Given the description of an element on the screen output the (x, y) to click on. 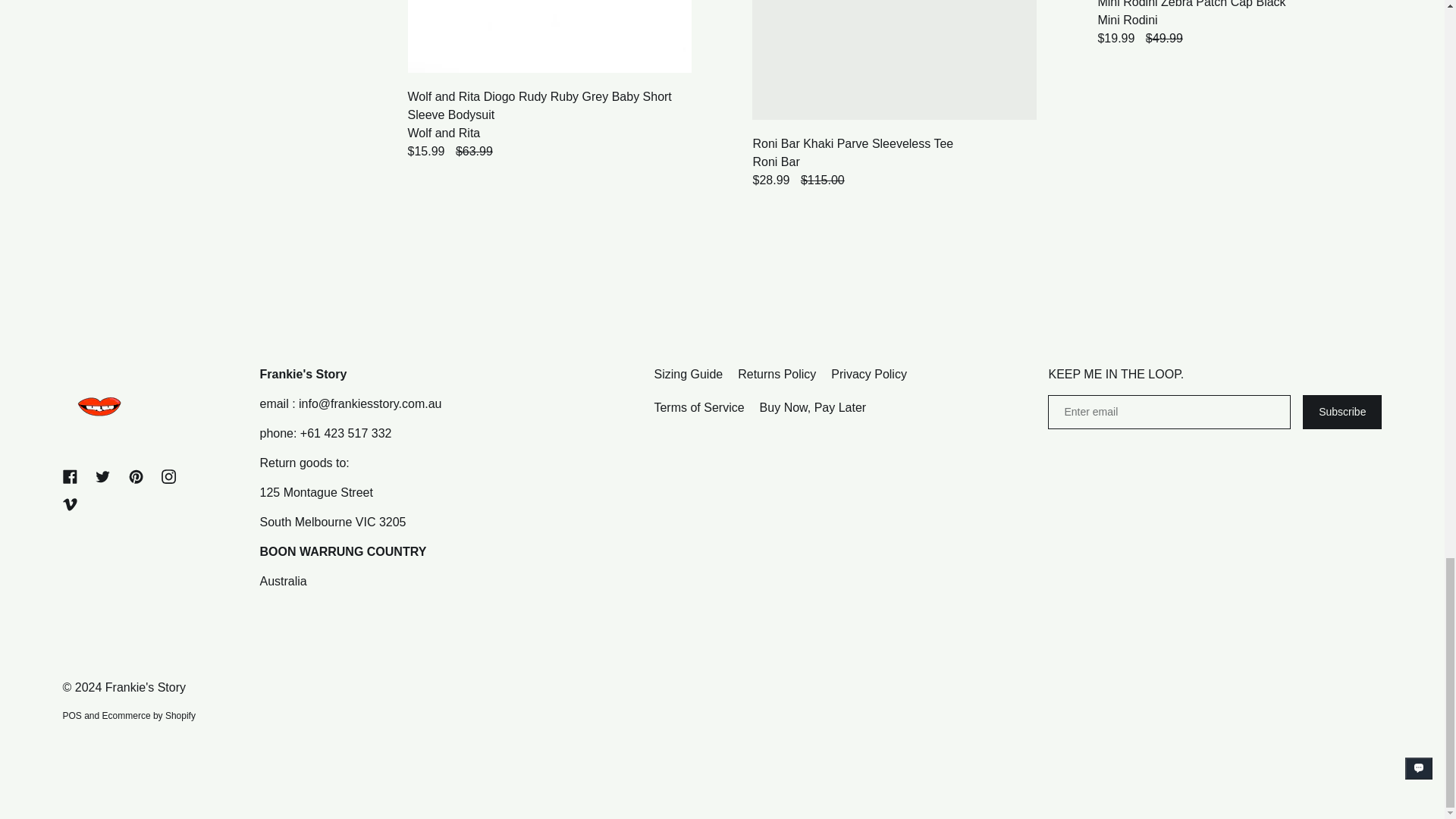
Frankie's Story on Pinterest (135, 476)
Frankie's Story on Instagram (168, 476)
Frankie's Story on Facebook (69, 476)
Frankie's Story on Vimeo, (69, 503)
Frankie's Story on Twitter (102, 476)
